Given the description of an element on the screen output the (x, y) to click on. 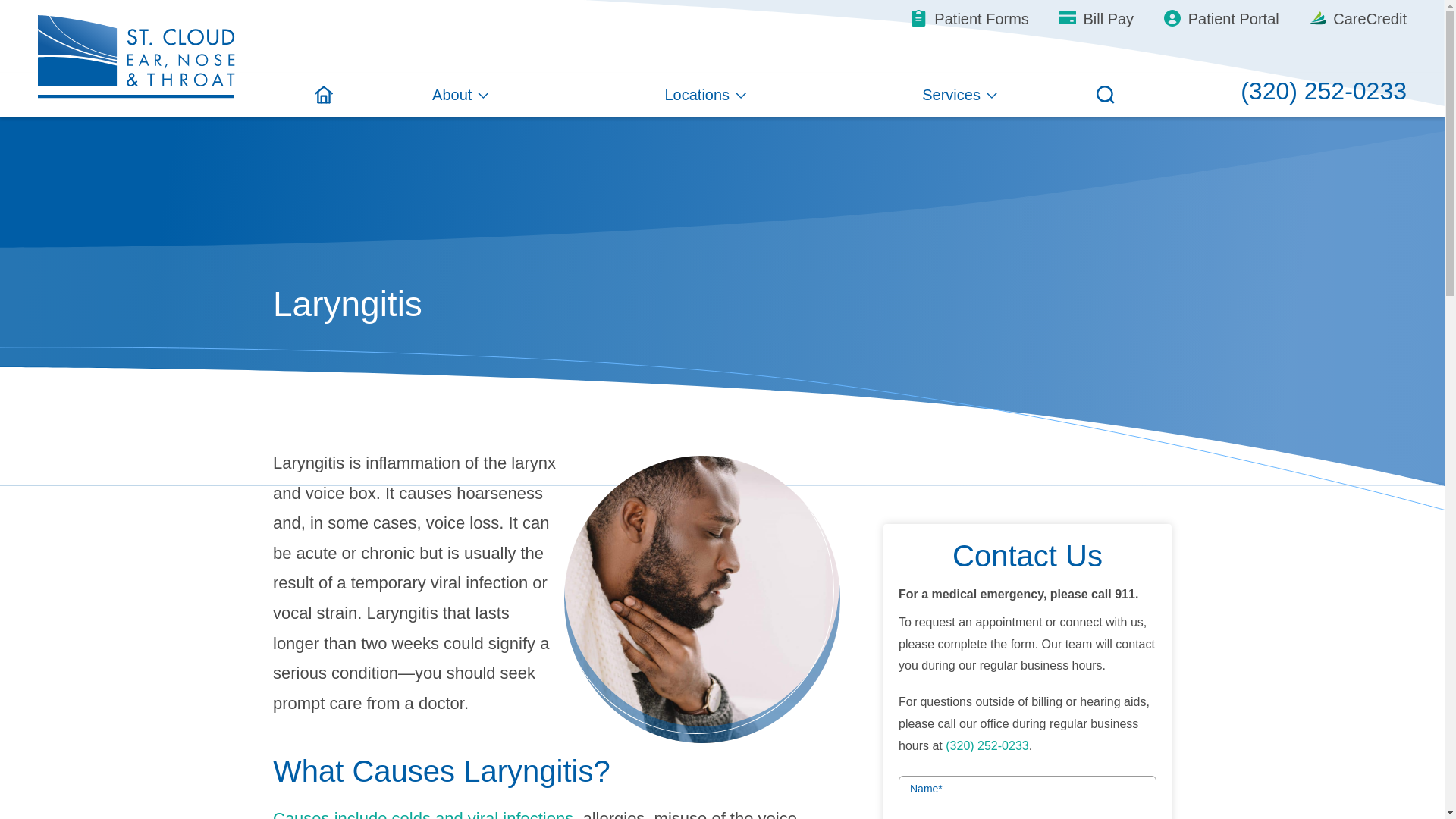
Patient Portal (1221, 18)
laryngitis-hoarseness (702, 598)
CareCredit (1357, 18)
Bill Pay (1096, 18)
Home (322, 94)
Patient Forms (970, 18)
